Given the description of an element on the screen output the (x, y) to click on. 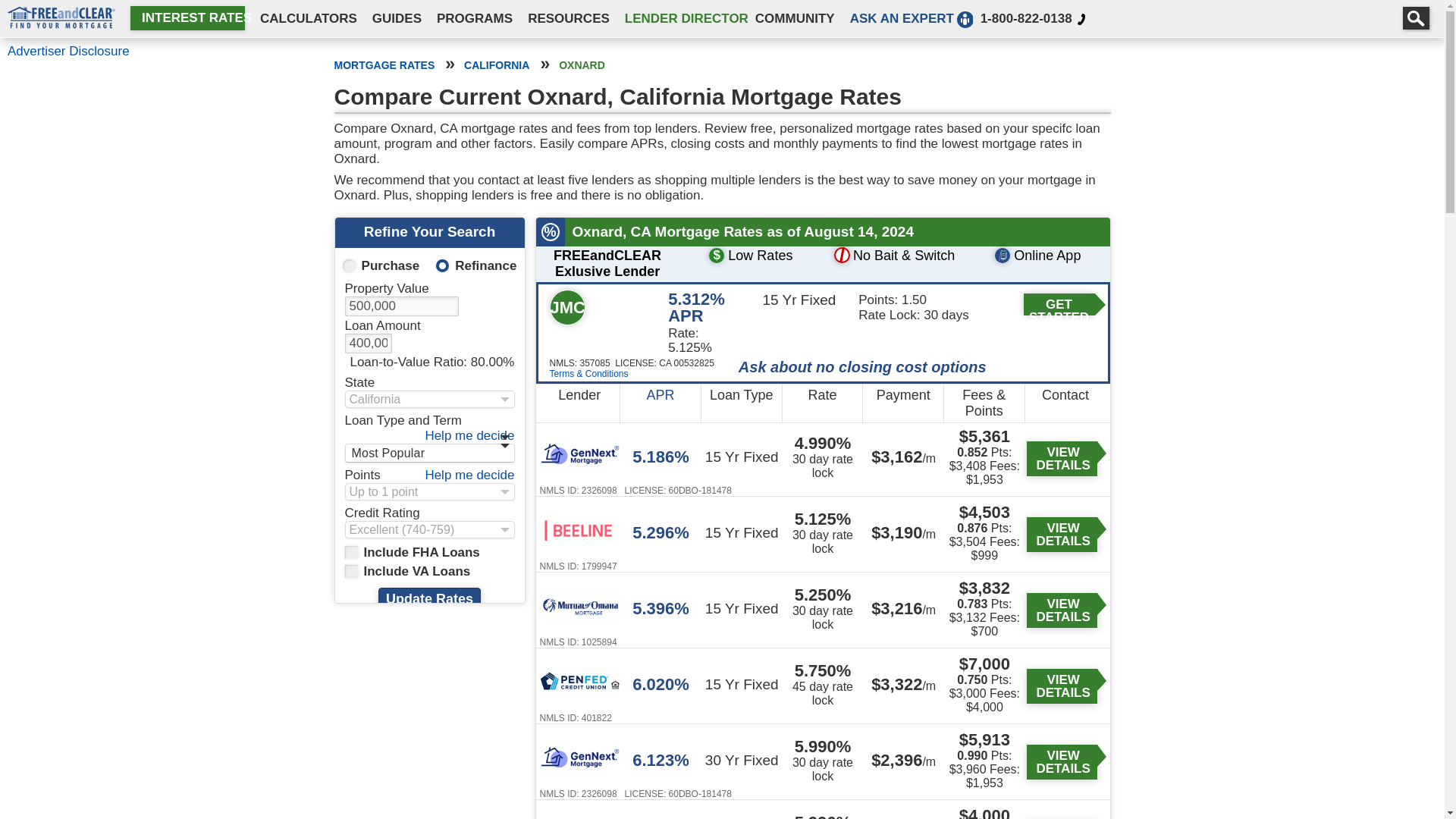
Update Rates (429, 599)
400,000 (367, 342)
500,000 (400, 306)
